Given the description of an element on the screen output the (x, y) to click on. 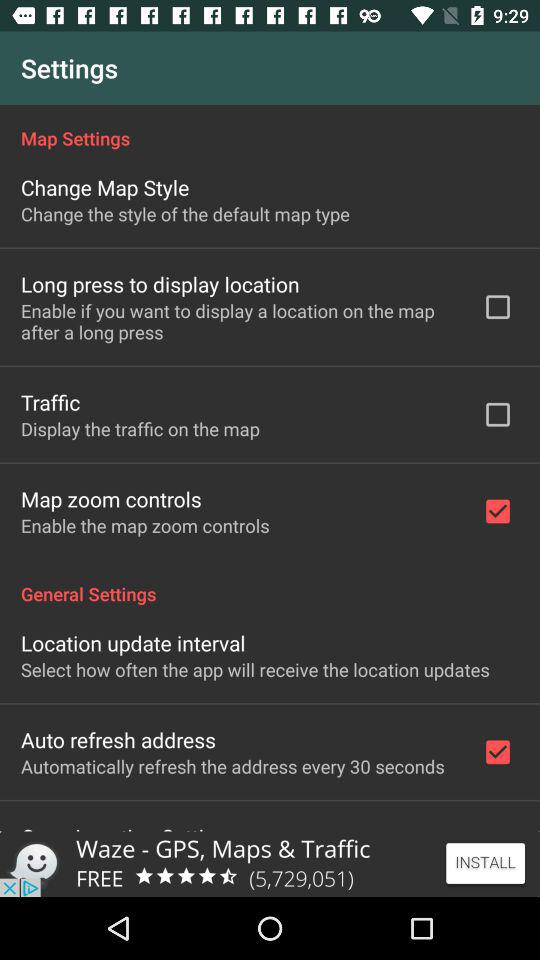
swipe until general settings (270, 583)
